Given the description of an element on the screen output the (x, y) to click on. 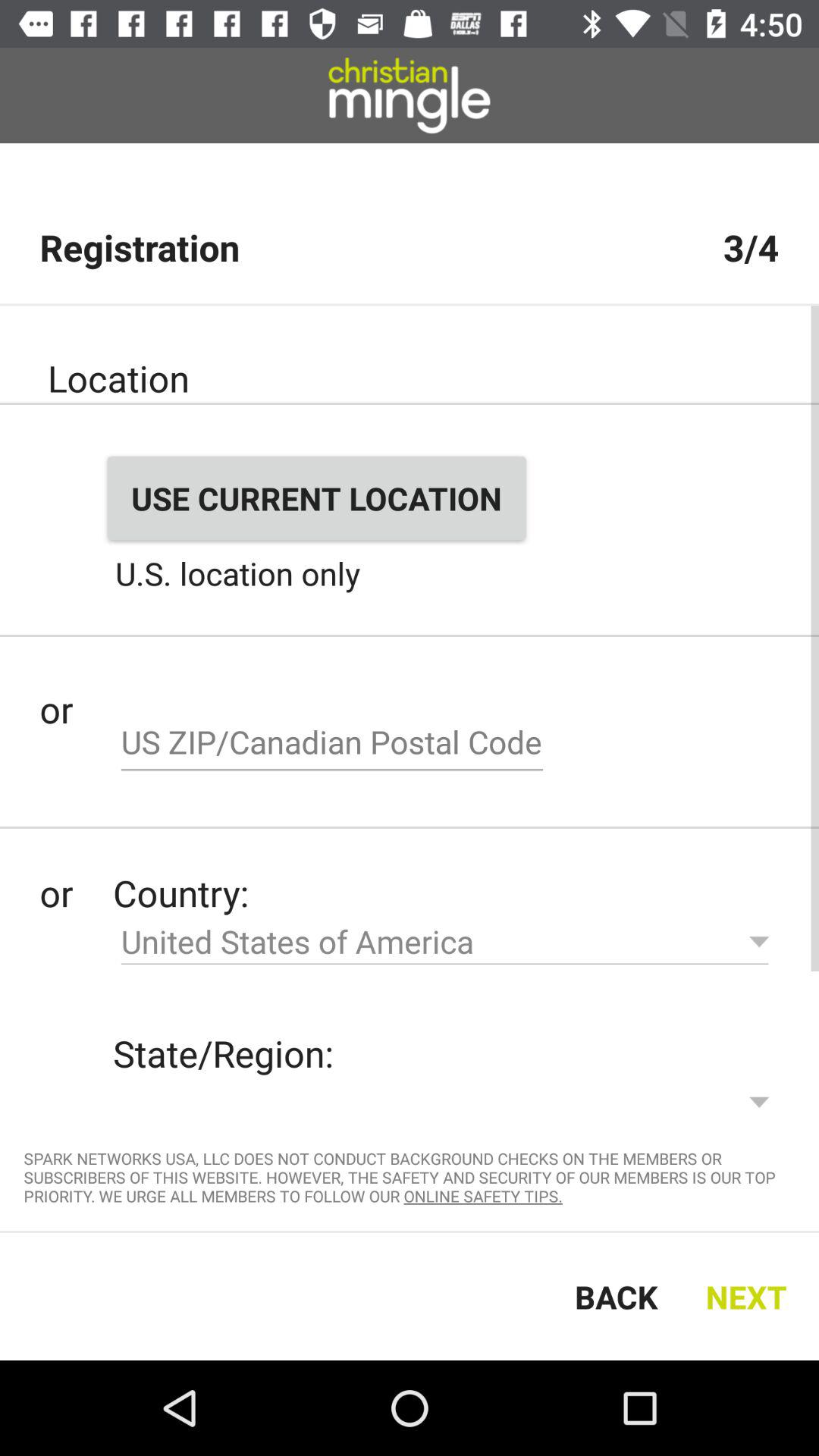
enter zip code (332, 743)
